Given the description of an element on the screen output the (x, y) to click on. 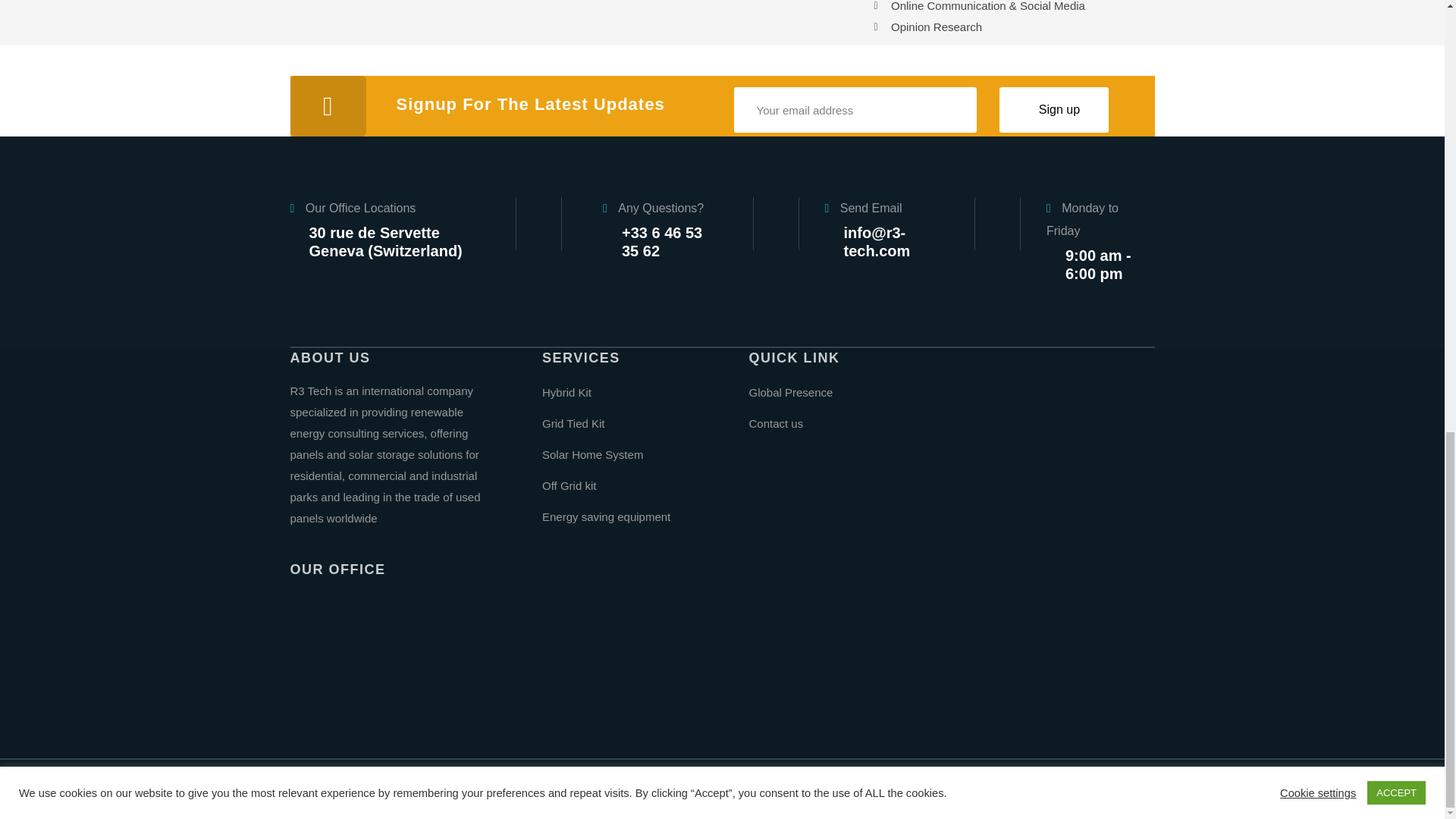
Sign up (1053, 109)
